Given the description of an element on the screen output the (x, y) to click on. 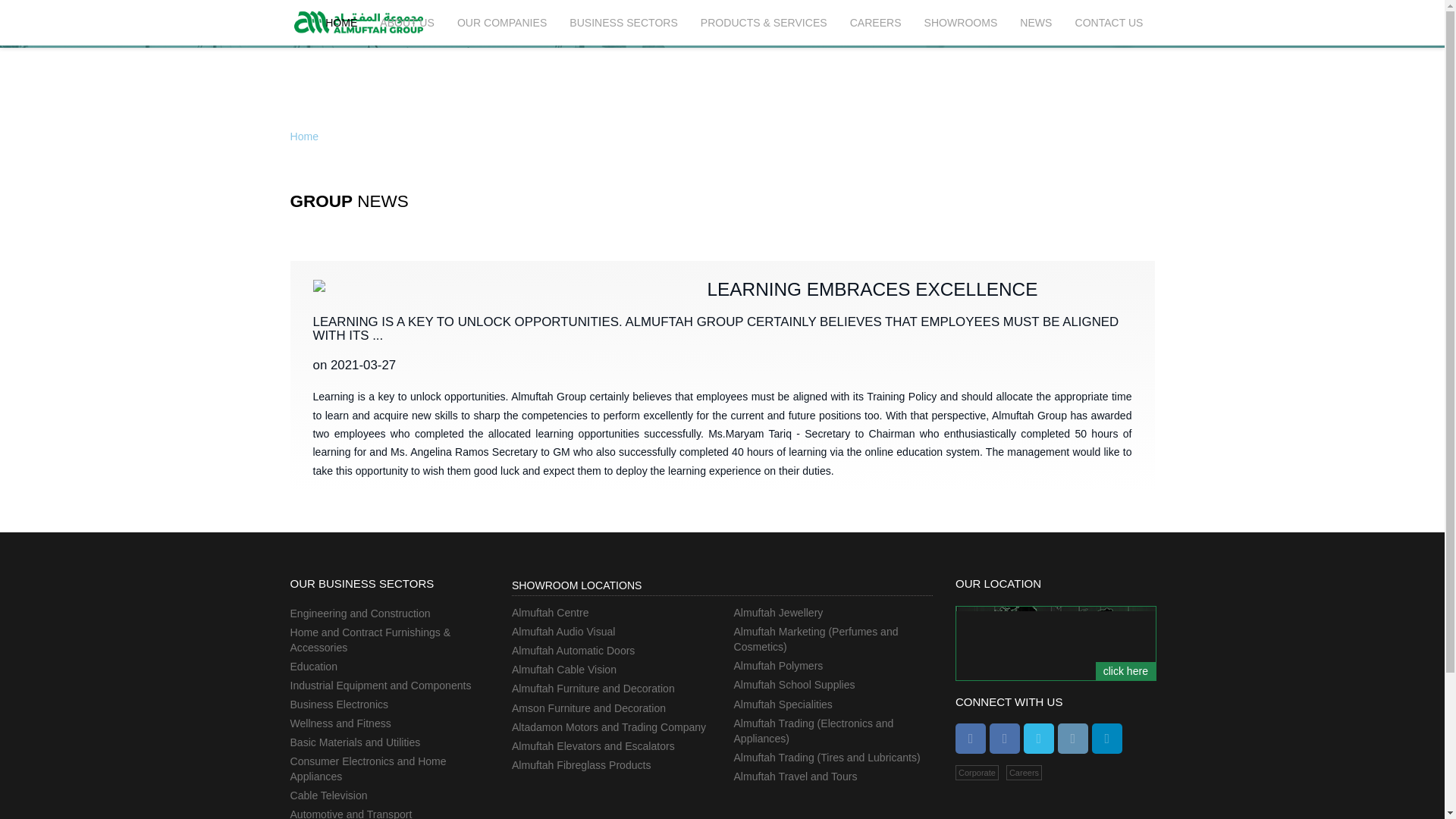
HOME (341, 22)
ABOUT US (406, 22)
OUR COMPANIES (501, 22)
Almuftah (357, 21)
BUSINESS SECTORS (622, 22)
Home (341, 22)
Companies (501, 22)
About (406, 22)
Almuftah (357, 21)
